Given the description of an element on the screen output the (x, y) to click on. 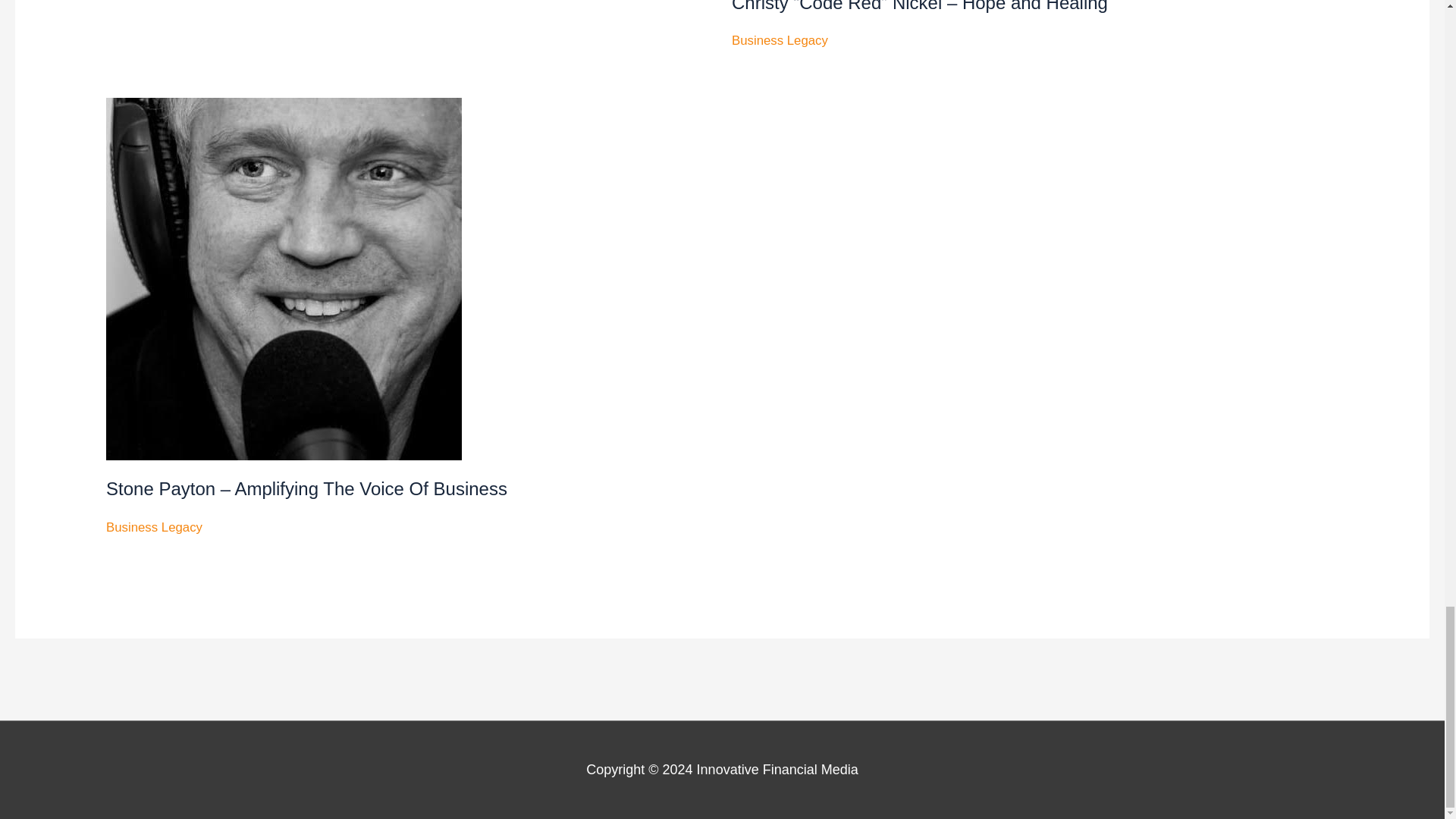
Business Legacy (780, 40)
Business Legacy (154, 527)
